Given the description of an element on the screen output the (x, y) to click on. 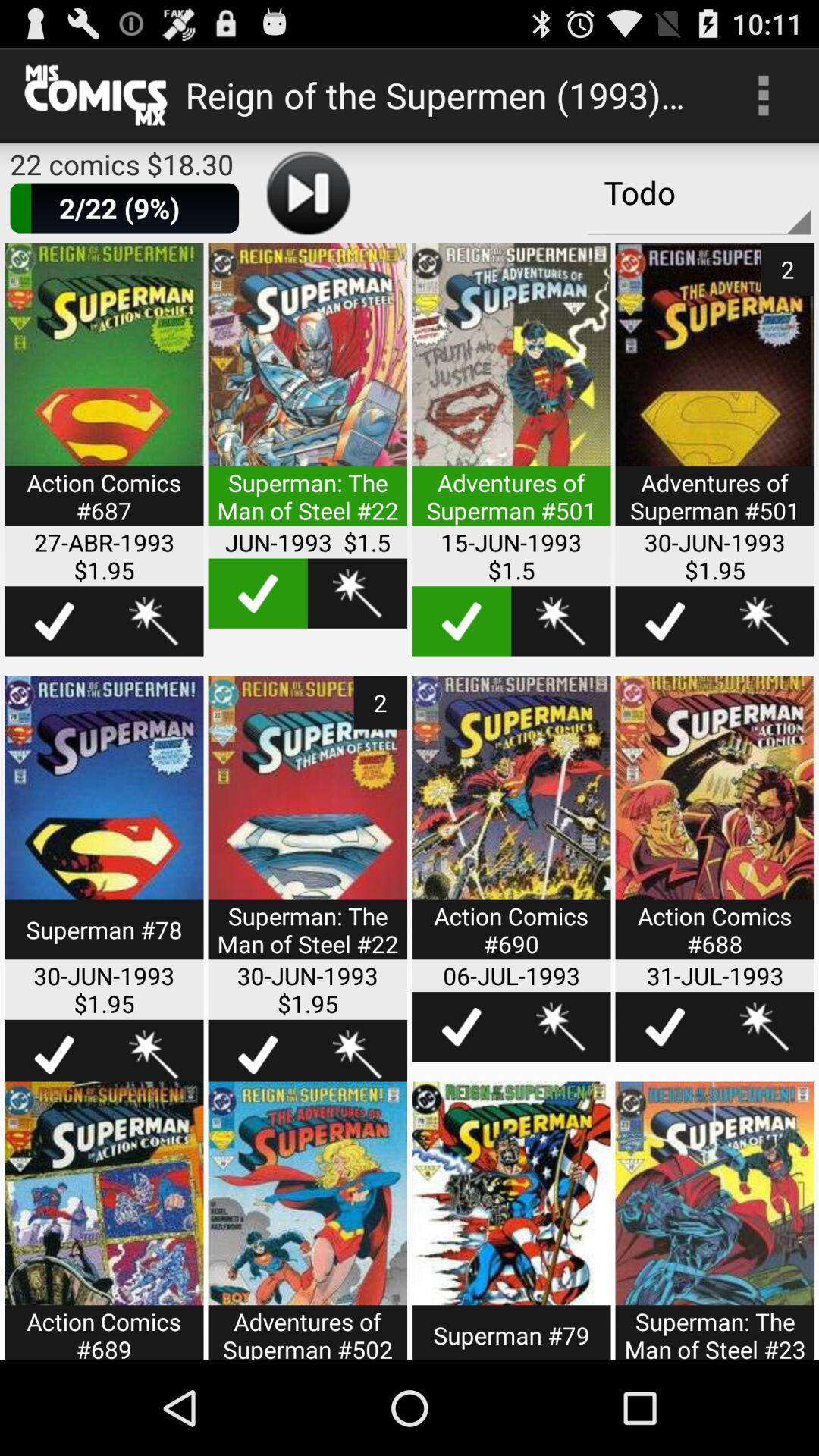
favorite (560, 1026)
